Given the description of an element on the screen output the (x, y) to click on. 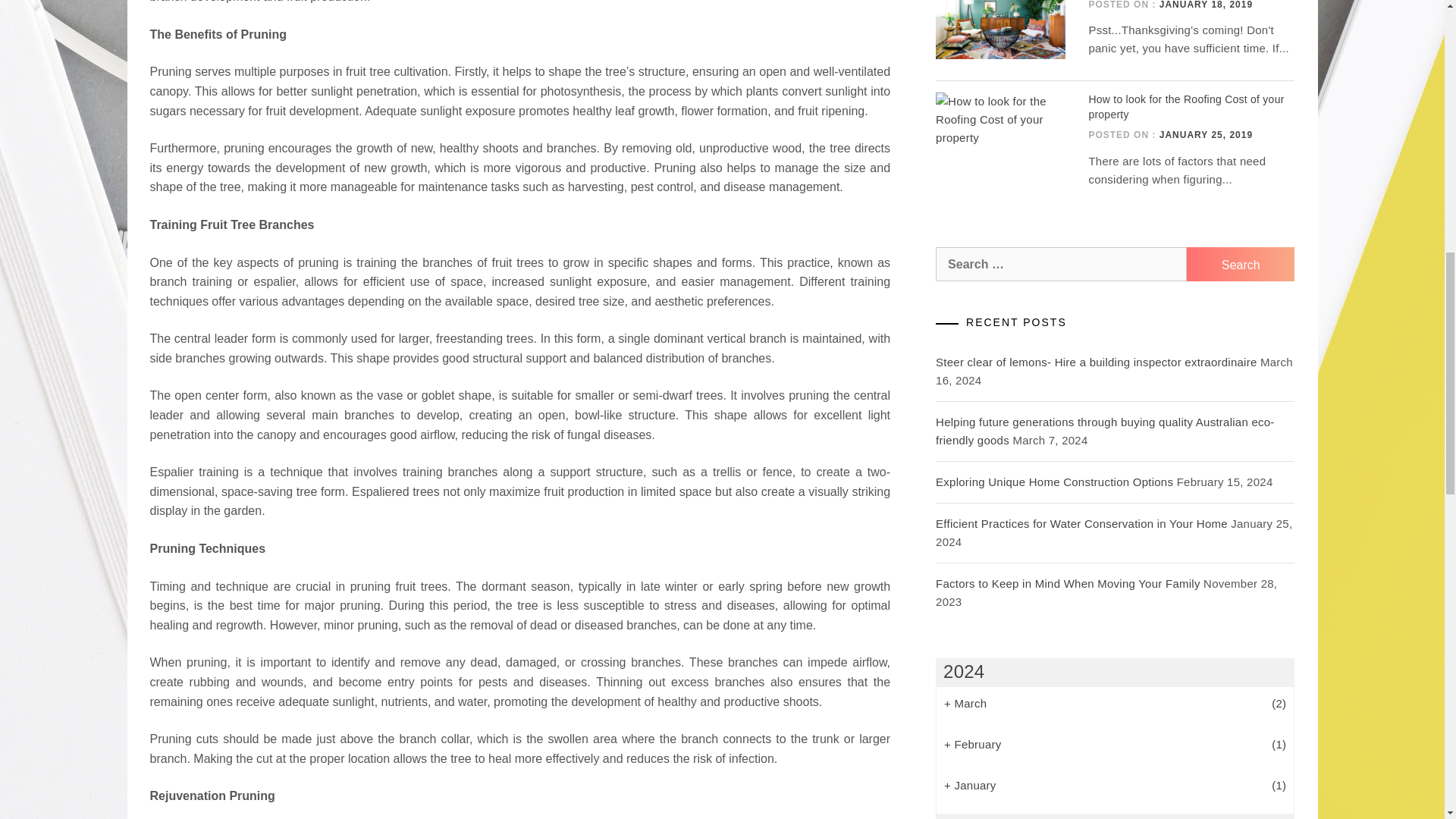
Search (1240, 264)
How to look for the Roofing Cost of your property (1185, 106)
JANUARY 18, 2019 (1205, 4)
Search (1240, 264)
JANUARY 25, 2019 (1205, 134)
